Given the description of an element on the screen output the (x, y) to click on. 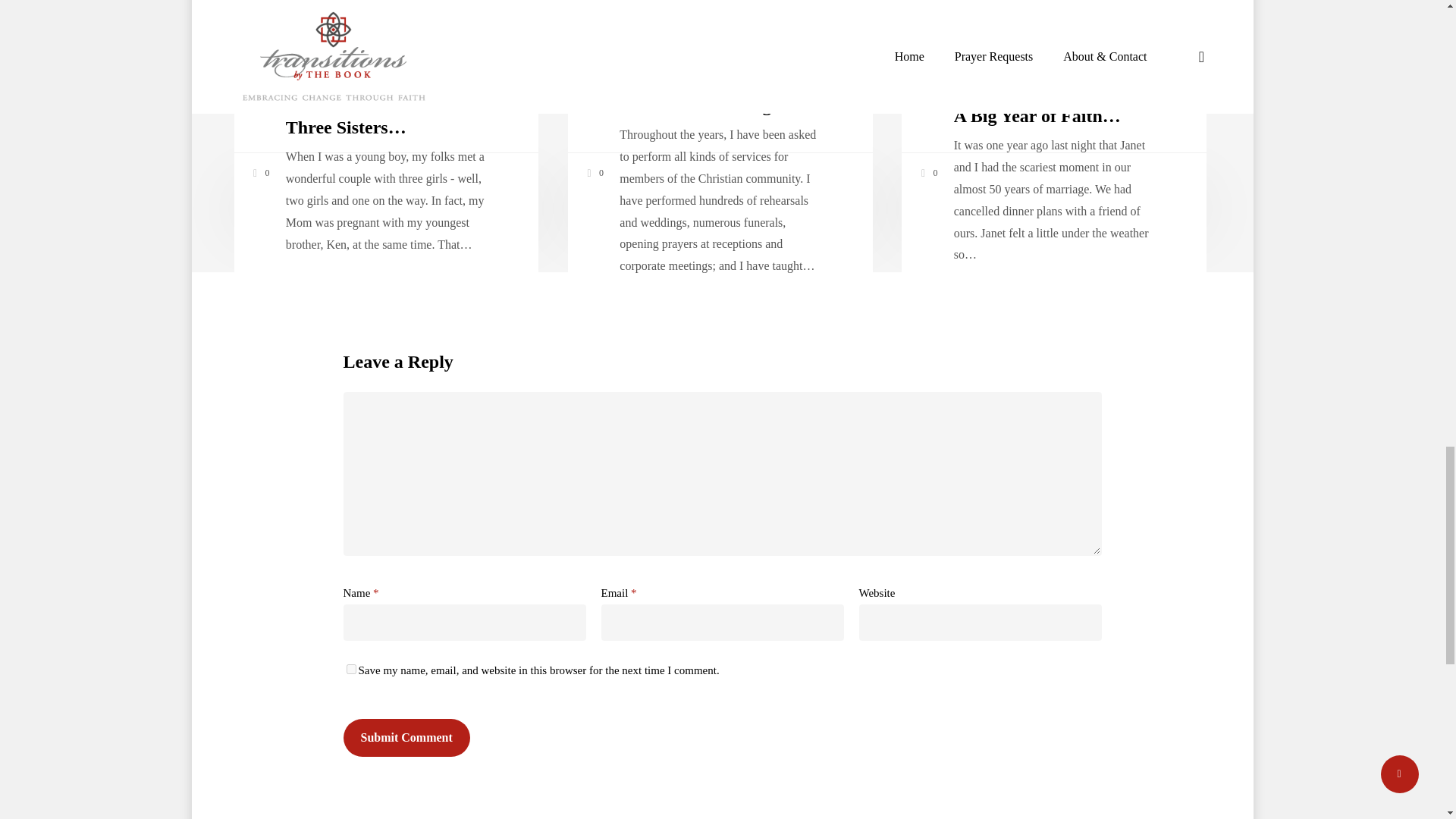
Submit Comment (405, 737)
yes (350, 669)
Submit Comment (405, 737)
